Given the description of an element on the screen output the (x, y) to click on. 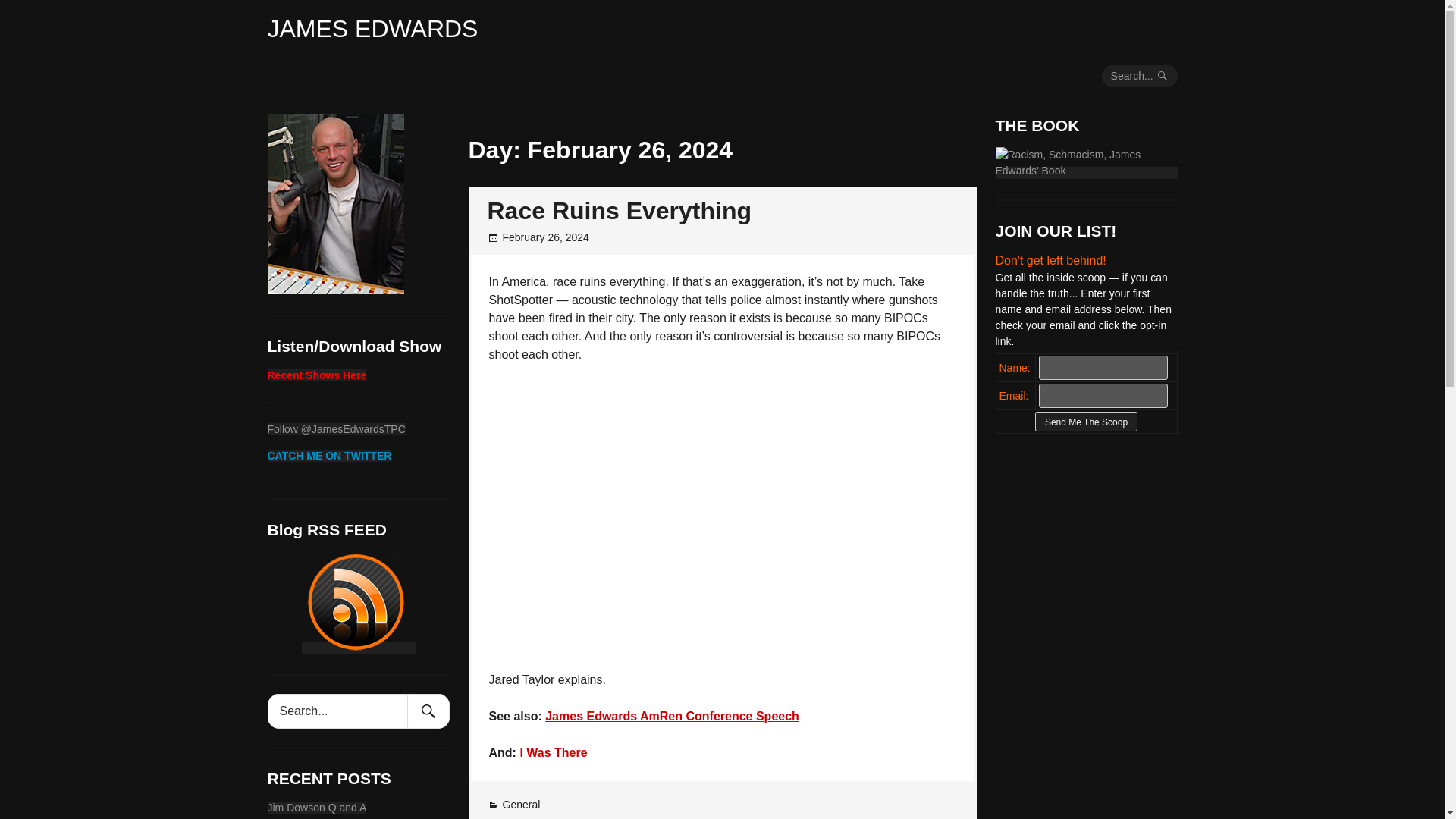
General (521, 804)
Search for: (341, 710)
Race Ruins Everything (618, 210)
JAMES EDWARDS (371, 28)
Recent Shows Here (316, 374)
Search... (1139, 75)
Search Submit (427, 710)
James Edwards AmRen Conference Speech (671, 716)
Send Me The Scoop (1086, 421)
February 26, 2024 (545, 236)
CATCH ME ON TWITTER (328, 454)
I Was There (552, 752)
Jim Dowson Q and A (316, 806)
